Given the description of an element on the screen output the (x, y) to click on. 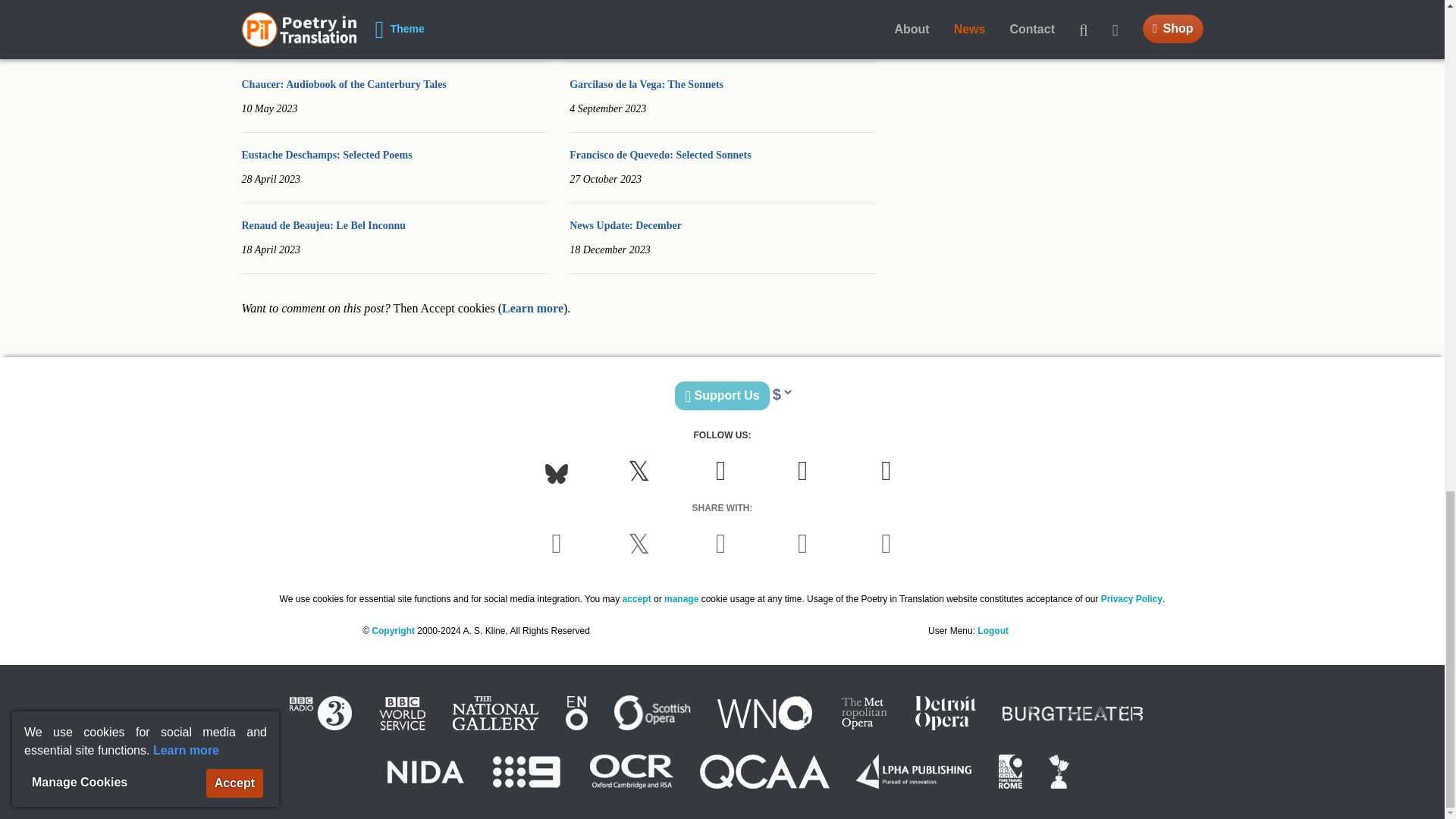
Eustache Deschamps: Selected Poems (326, 154)
Goethe: Roman Elegies (294, 13)
News Update: December (625, 225)
Francisco de Quevedo: Selected Sonnets (660, 154)
Garcilaso de la Vega: The Sonnets (646, 84)
Eustache Deschamps: Selected Poems (326, 154)
Goethe: Iphigenia in Tauris (631, 13)
Learn more (532, 308)
Renaud de Beaujeu: Le Bel Inconnu (323, 225)
Renaud de Beaujeu: Le Bel Inconnu (323, 225)
Goethe: Roman Elegies (294, 13)
Chaucer: Audiobook of the Canterbury Tales (343, 84)
Chaucer: Audiobook of the Canterbury Tales (343, 84)
